Given the description of an element on the screen output the (x, y) to click on. 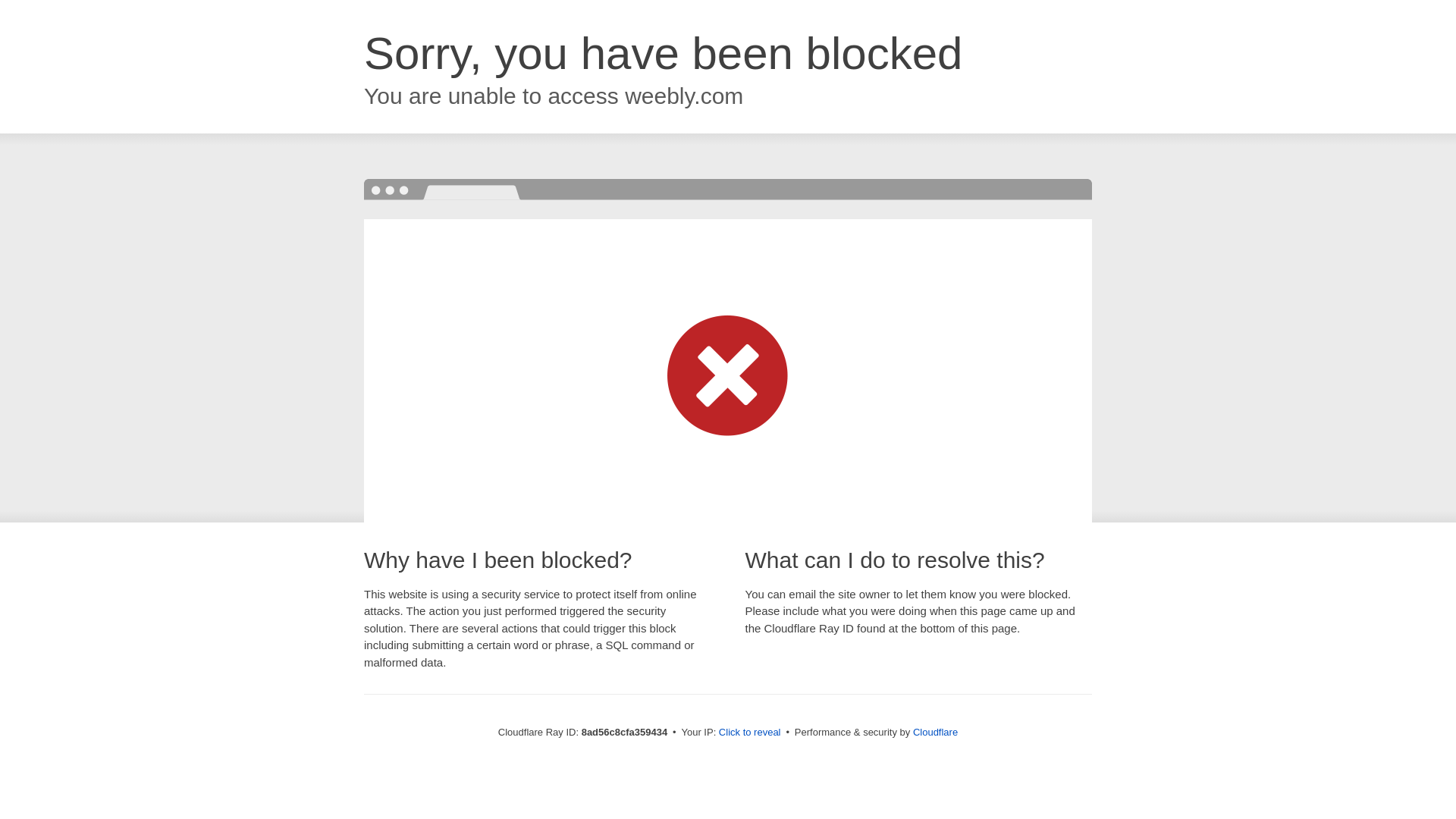
Click to reveal (749, 732)
Cloudflare (935, 731)
